Given the description of an element on the screen output the (x, y) to click on. 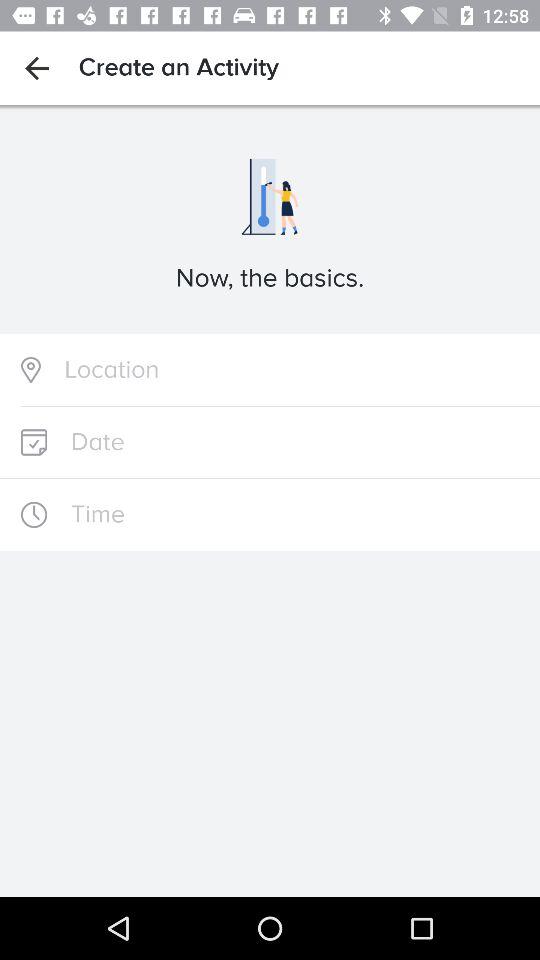
mapping (270, 370)
